Given the description of an element on the screen output the (x, y) to click on. 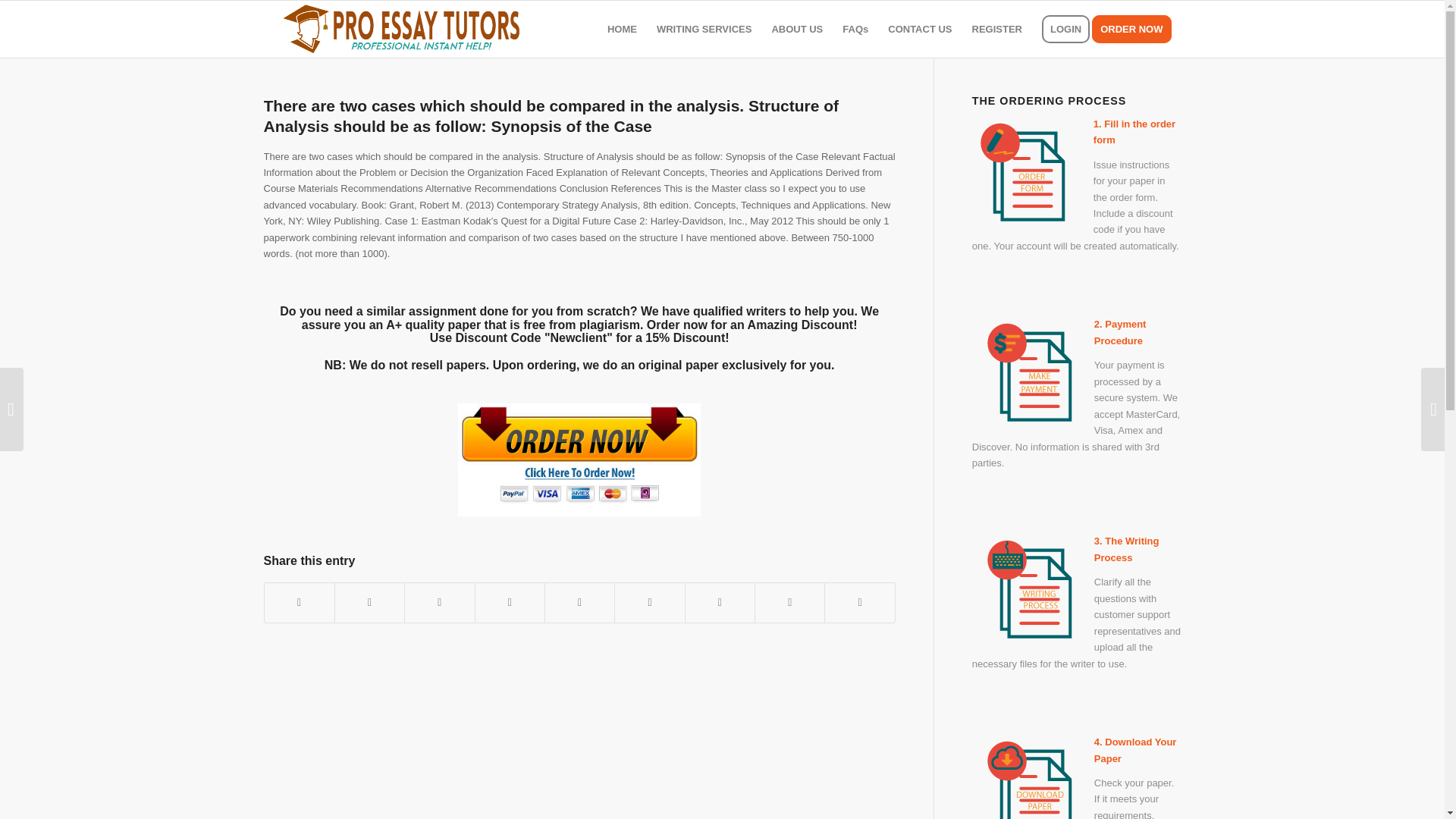
CONTACT US (918, 28)
WRITING SERVICES (703, 28)
REGISTER (997, 28)
ORDER NOW (1136, 28)
LOGIN (1065, 28)
ABOUT US (796, 28)
